Given the description of an element on the screen output the (x, y) to click on. 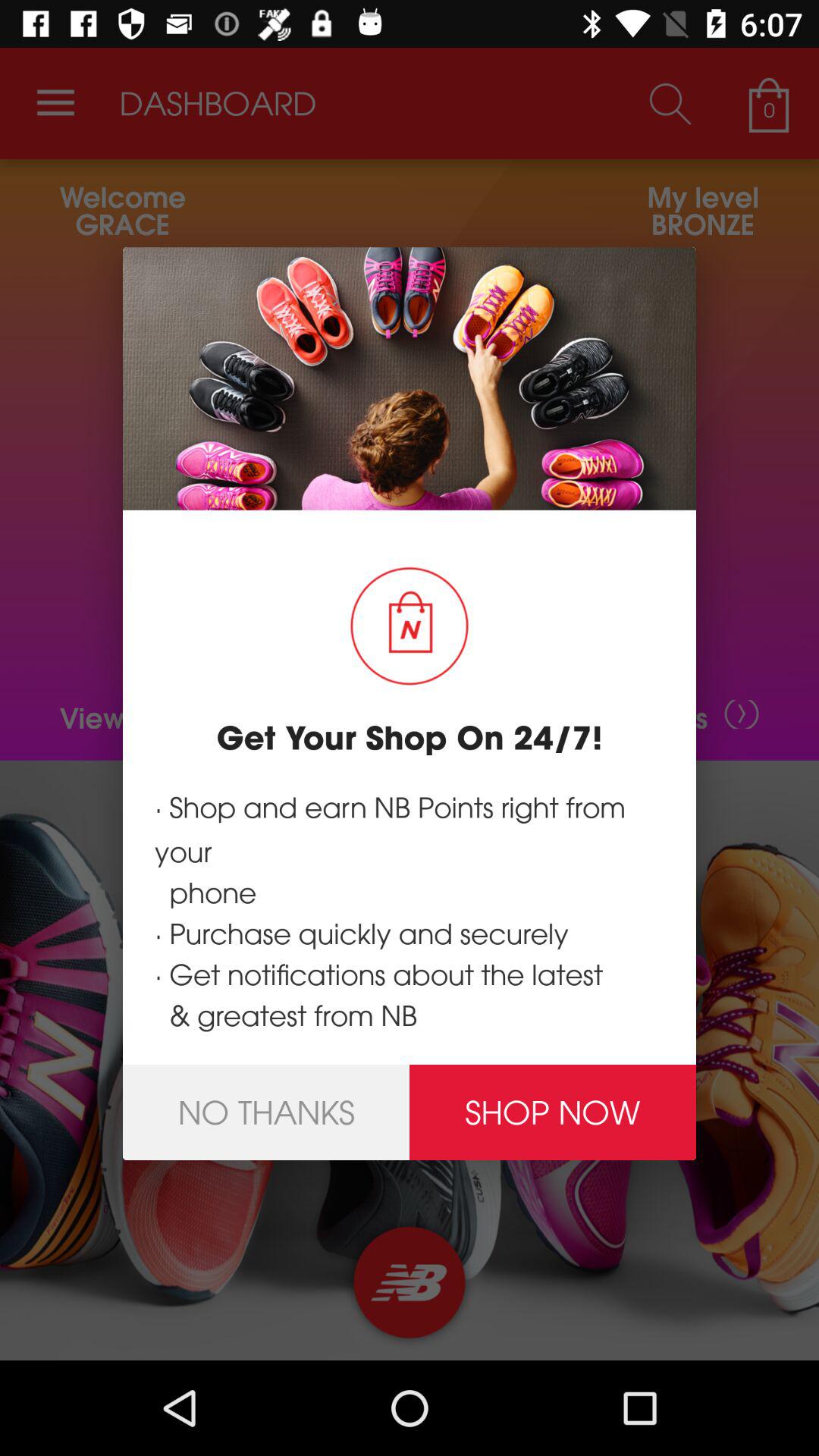
open icon next to the shop now item (265, 1112)
